Given the description of an element on the screen output the (x, y) to click on. 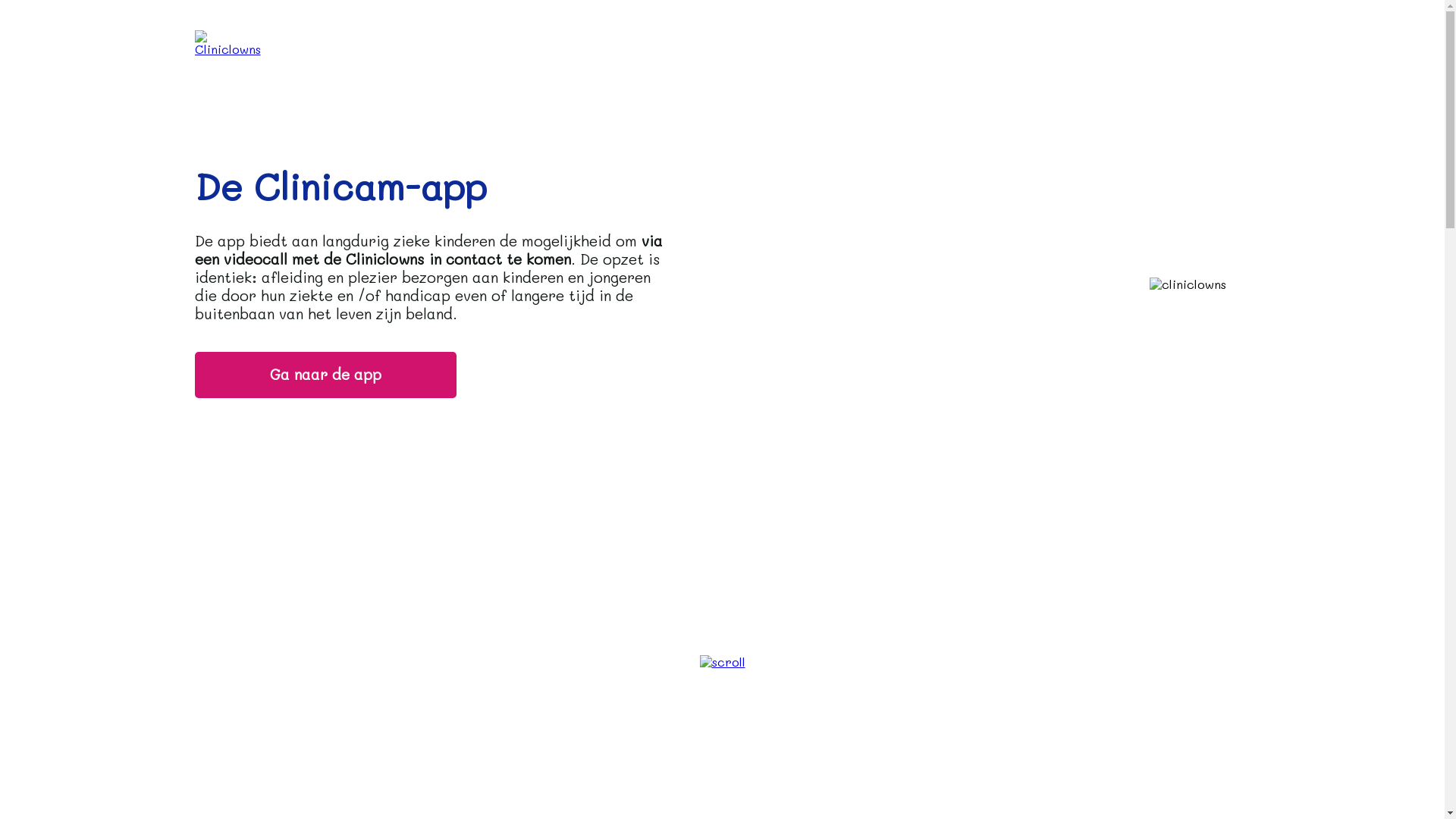
Ga naar de app Element type: text (325, 374)
